Given the description of an element on the screen output the (x, y) to click on. 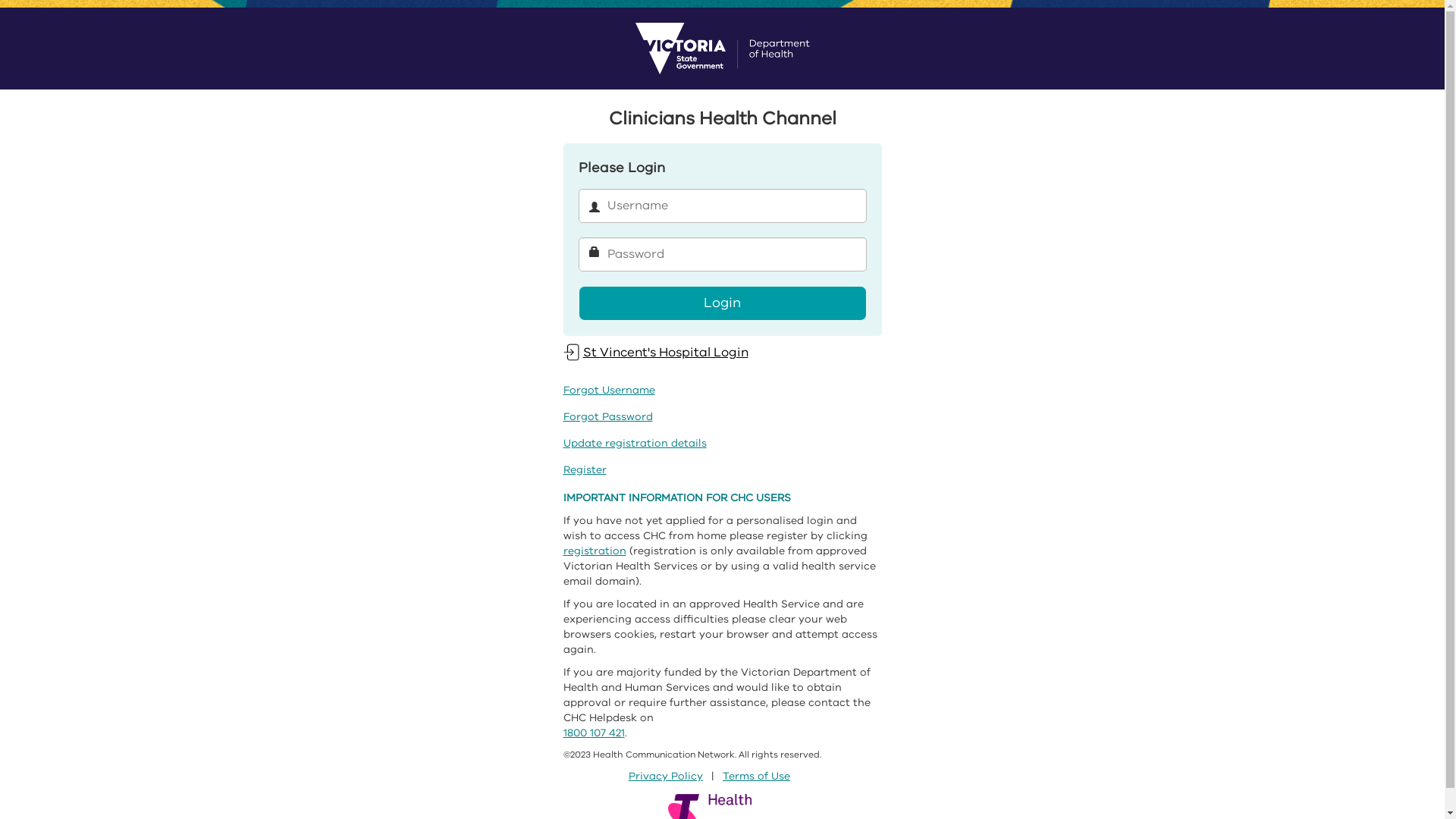
Forgot Username Element type: text (608, 389)
registration Element type: text (593, 550)
Forgot Password Element type: text (607, 416)
Login Element type: text (721, 302)
Terms of Use Element type: text (756, 775)
St Vincent's Hospital Login Element type: text (654, 351)
Register Element type: text (583, 469)
1800 107 421 Element type: text (593, 732)
Privacy Policy Element type: text (665, 775)
Update registration details Element type: text (634, 443)
